Given the description of an element on the screen output the (x, y) to click on. 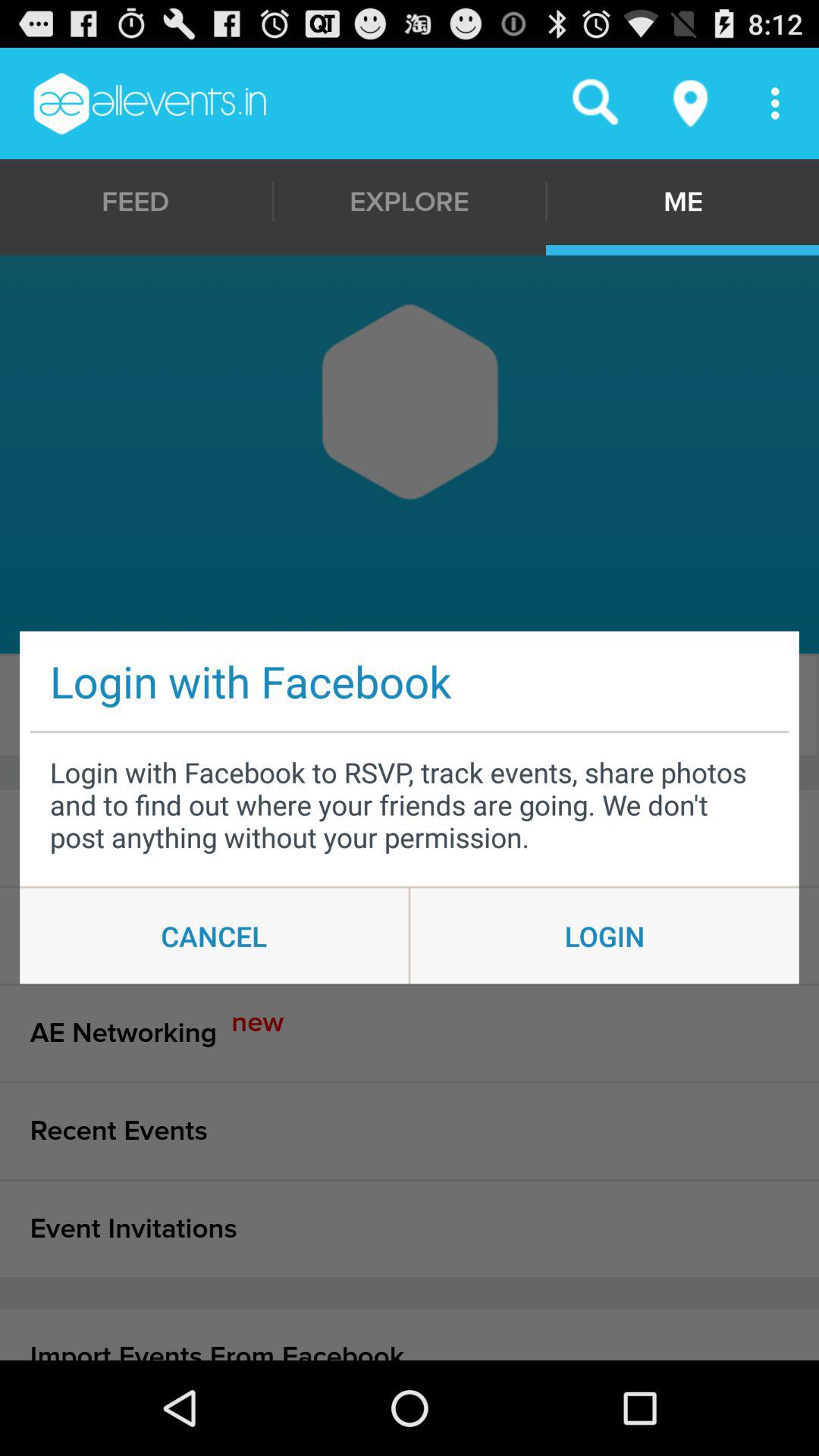
press item to the right of events (406, 705)
